Given the description of an element on the screen output the (x, y) to click on. 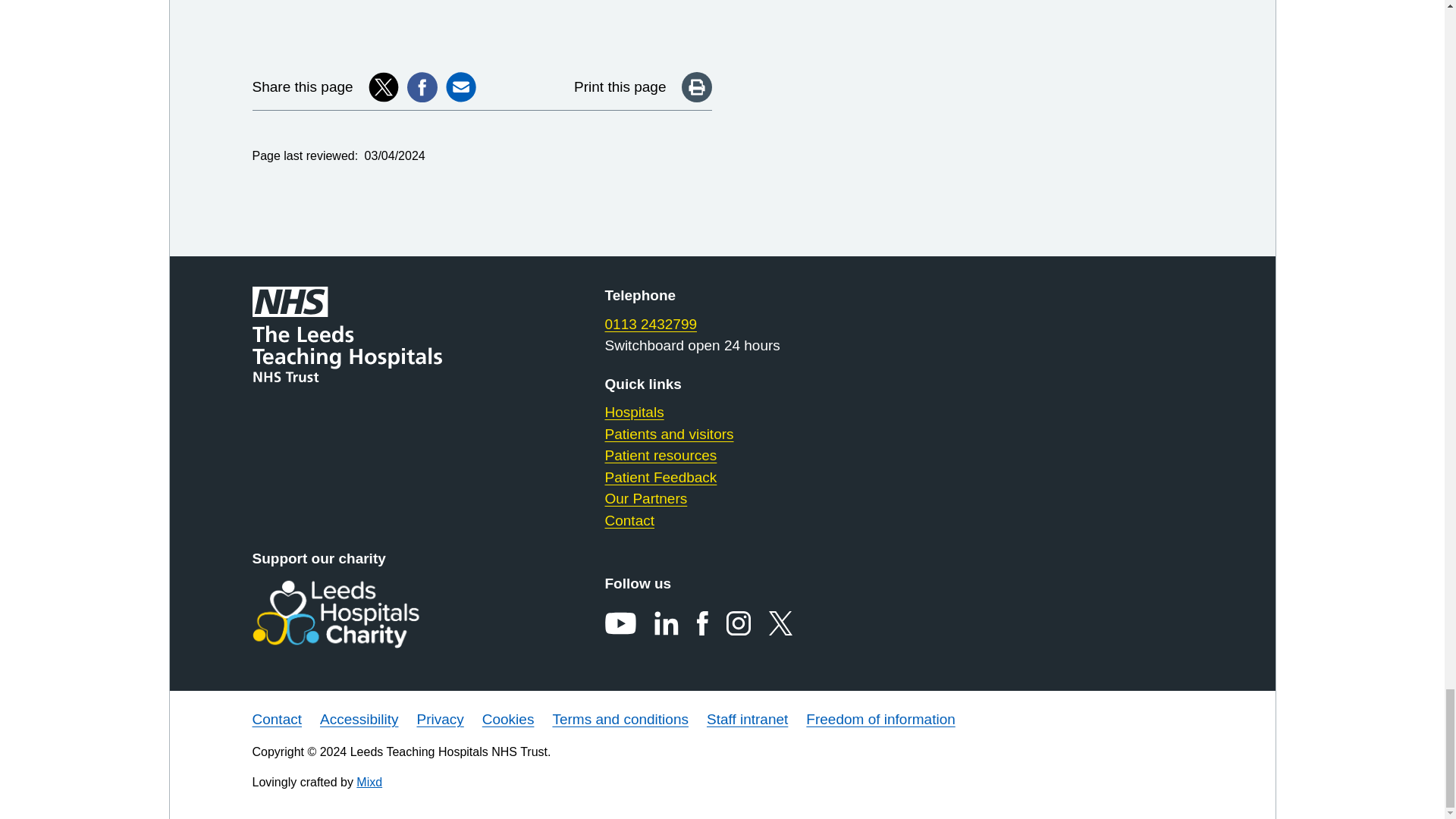
Leeds Teaching Hospitals NHS Trust Homepage (359, 334)
Share via Email (460, 87)
Leeds Hospital Charity (359, 613)
Share on Facebook (422, 87)
